Given the description of an element on the screen output the (x, y) to click on. 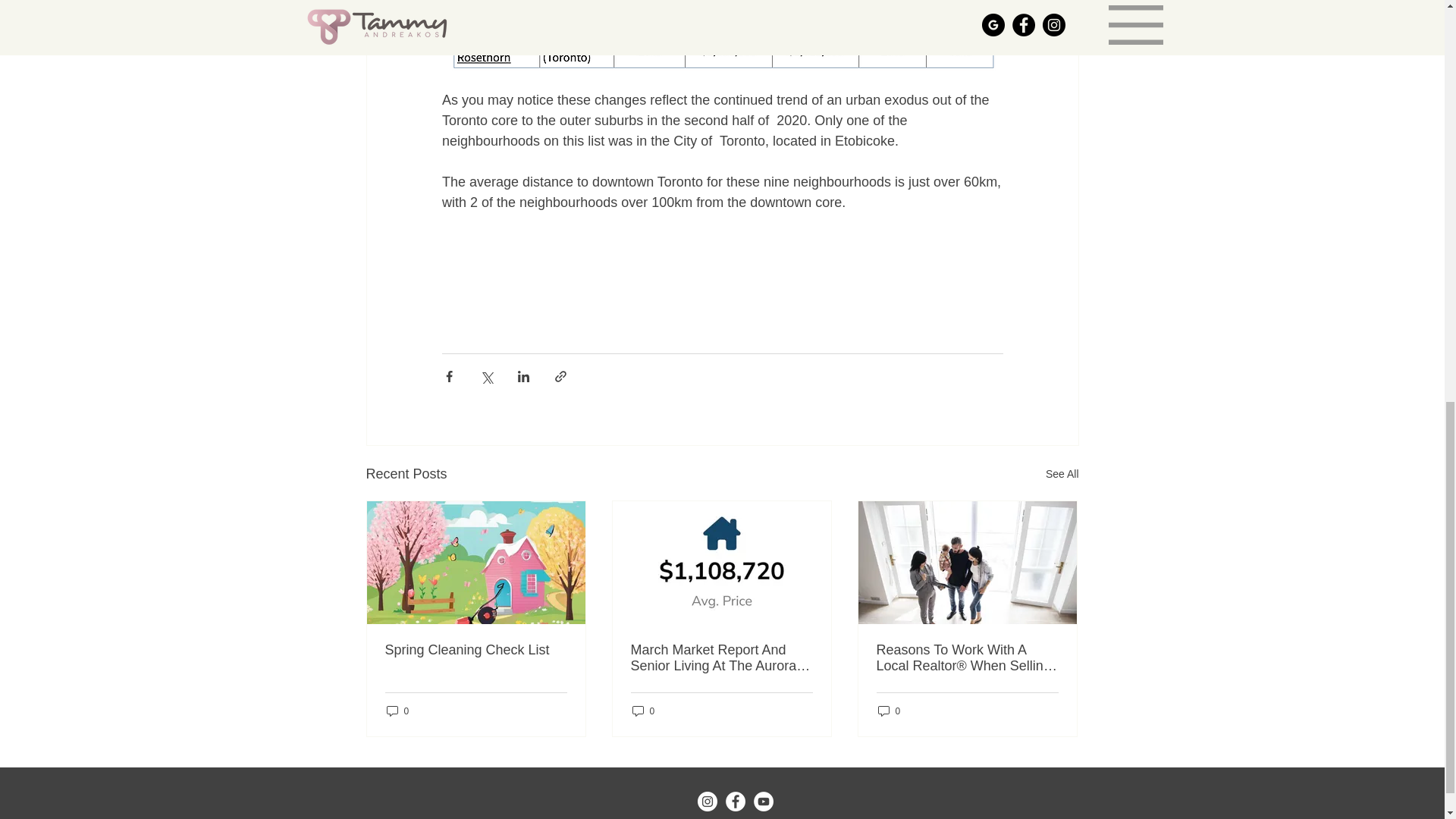
See All (1061, 474)
March Market Report And Senior Living At The Aurora Meadows (721, 658)
0 (643, 710)
0 (397, 710)
0 (889, 710)
Spring Cleaning Check List (476, 650)
